Given the description of an element on the screen output the (x, y) to click on. 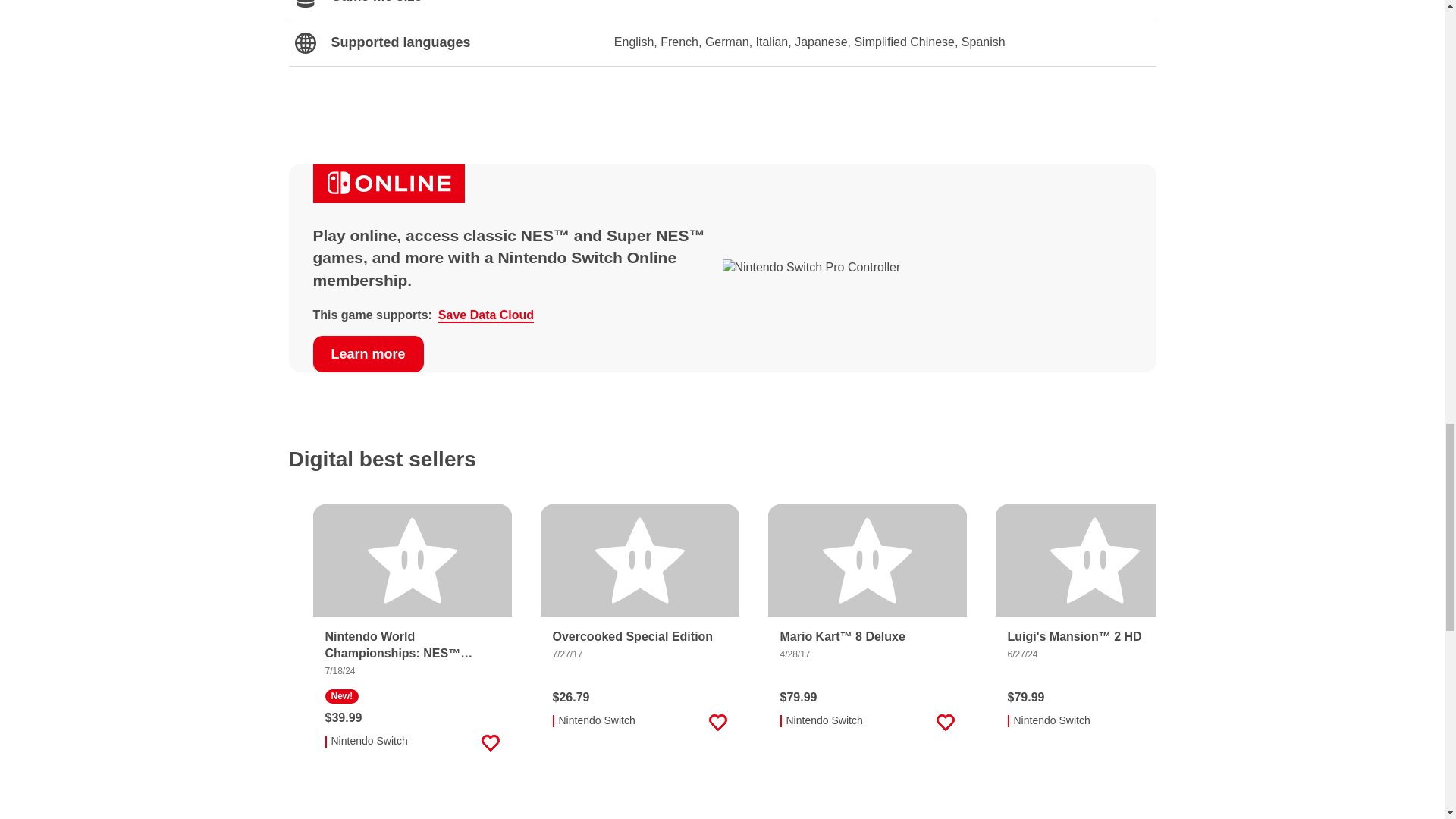
Add to Wish List (716, 722)
Add to Wish List (489, 742)
Add to Wish List (1172, 722)
Add to Wish List (944, 722)
